Given the description of an element on the screen output the (x, y) to click on. 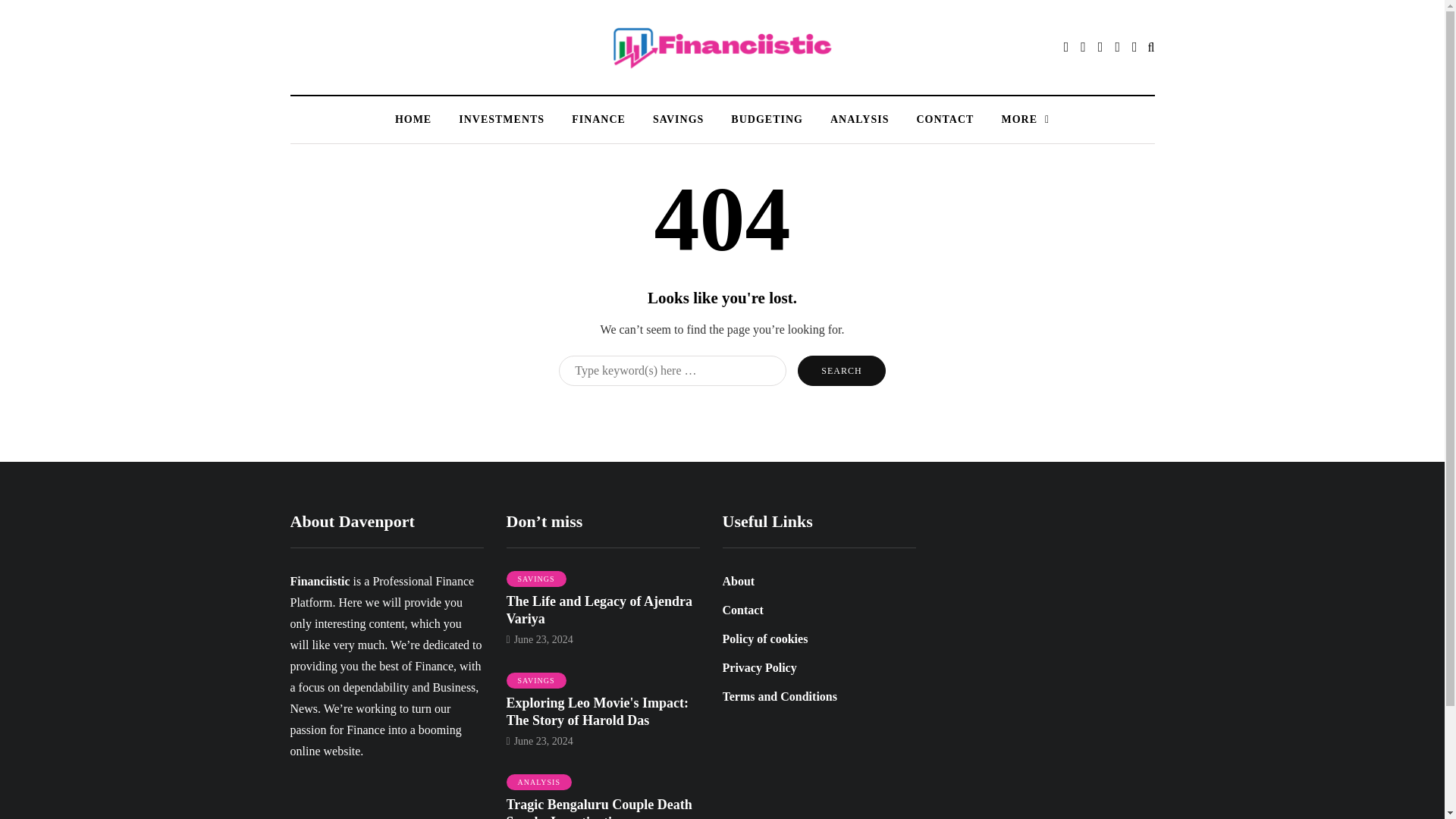
SAVINGS (536, 579)
Search (841, 370)
CONTACT (944, 119)
SAVINGS (536, 680)
Search (841, 370)
INVESTMENTS (501, 119)
Tragic Bengaluru Couple Death Sparks Investigation (599, 807)
About (738, 581)
Exploring Leo Movie's Impact: The Story of Harold Das (597, 711)
FINANCE (598, 119)
ANALYSIS (539, 782)
ANALYSIS (859, 119)
Privacy Policy (759, 667)
Policy of cookies (765, 638)
MORE (1024, 119)
